Given the description of an element on the screen output the (x, y) to click on. 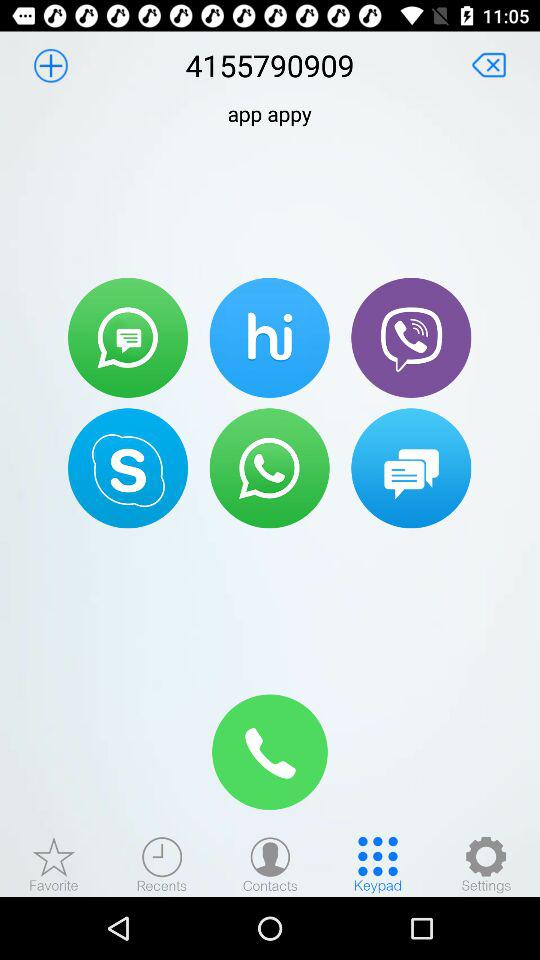
choose hi app (269, 337)
